Given the description of an element on the screen output the (x, y) to click on. 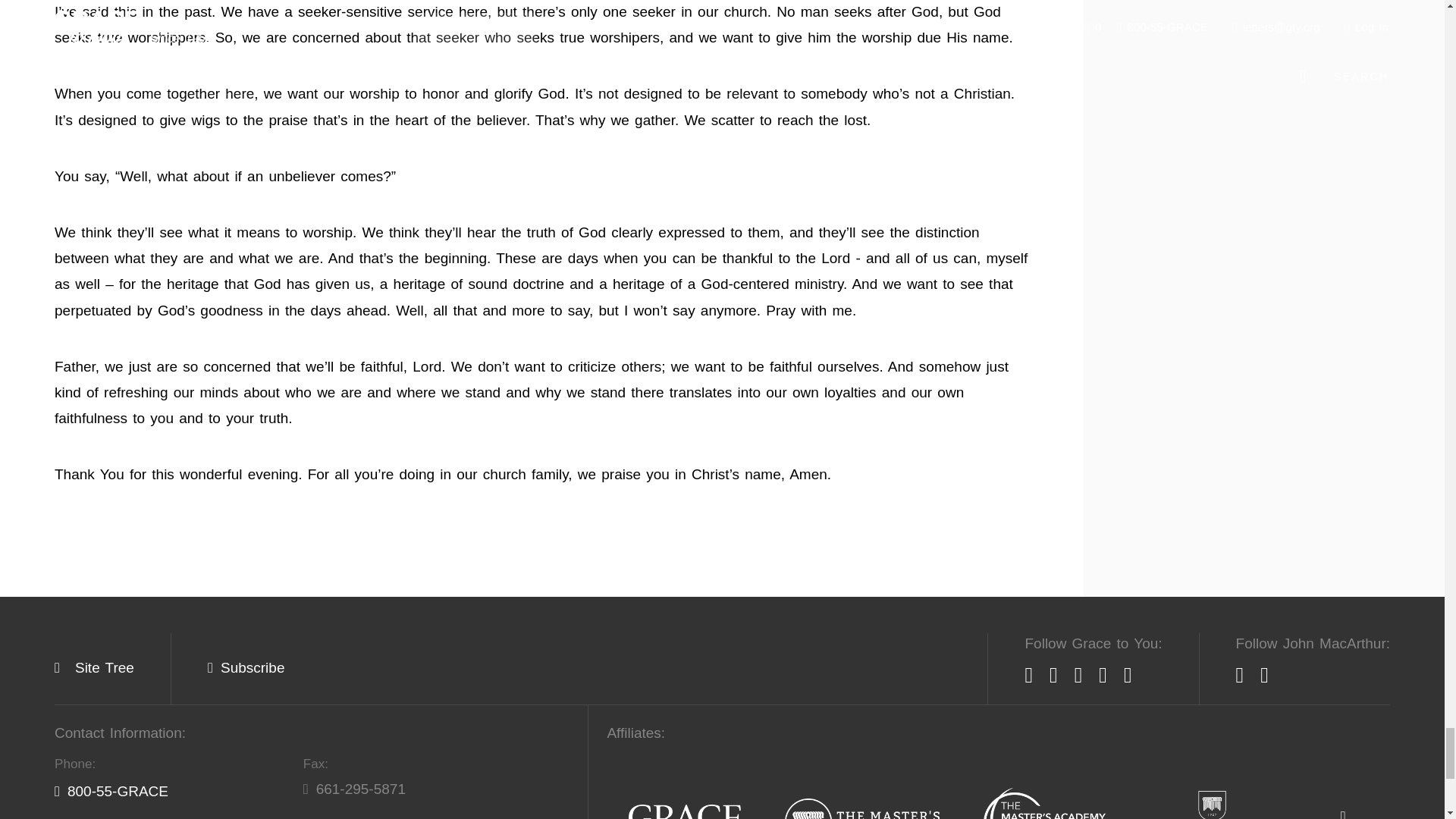
The Master' University (1211, 804)
The Master' Seminary (862, 808)
The Master' Academy International (1044, 803)
Grace Community Church (684, 811)
More Affiliates (1341, 814)
